Given the description of an element on the screen output the (x, y) to click on. 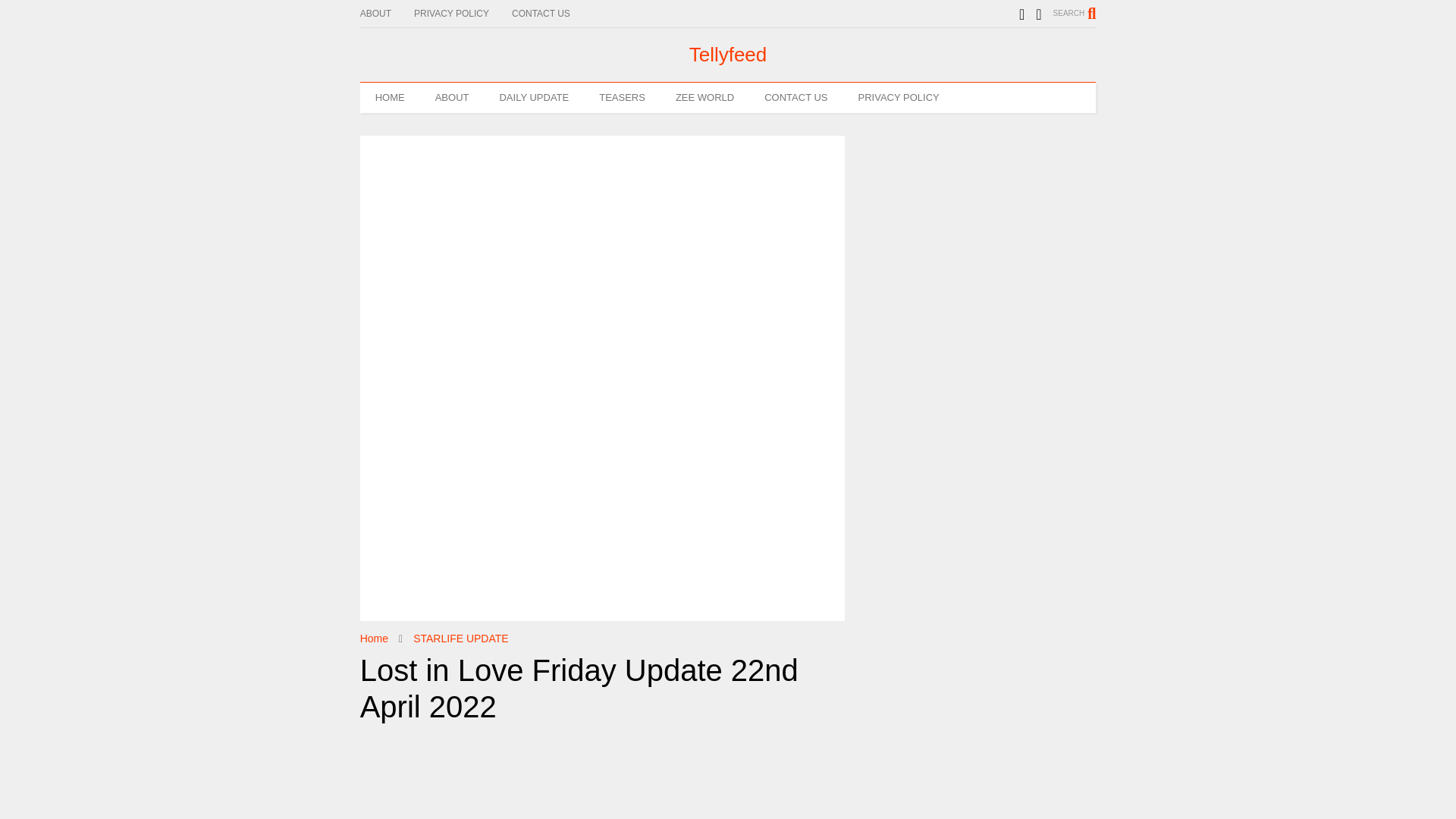
CONTACT US (552, 13)
STARLIFE UPDATE (460, 638)
ZEE WORLD (705, 97)
HOME (389, 97)
DAILY UPDATE (533, 97)
ABOUT (386, 13)
SEARCH (1074, 13)
CONTACT US (796, 97)
PRIVACY POLICY (462, 13)
Home (373, 638)
PRIVACY POLICY (899, 97)
ABOUT (452, 97)
Tellyfeed (727, 54)
